Given the description of an element on the screen output the (x, y) to click on. 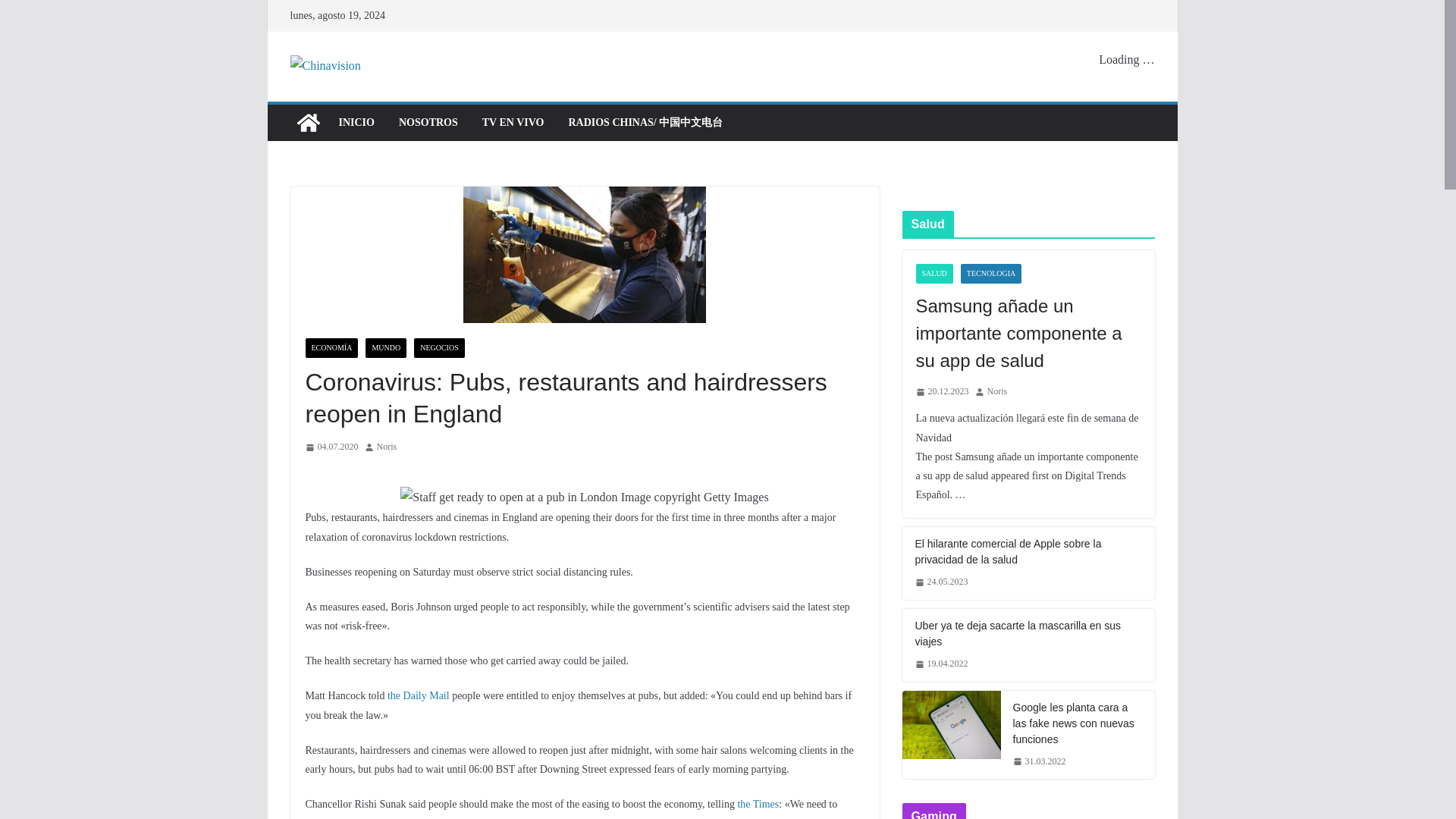
Chinavision (307, 122)
INICIO (355, 122)
TV EN VIVO (512, 122)
Noris (385, 446)
Noris (385, 446)
NOSOTROS (428, 122)
MUNDO (385, 347)
04.07.2020 (331, 446)
the Times (757, 803)
NEGOCIOS (438, 347)
